Given the description of an element on the screen output the (x, y) to click on. 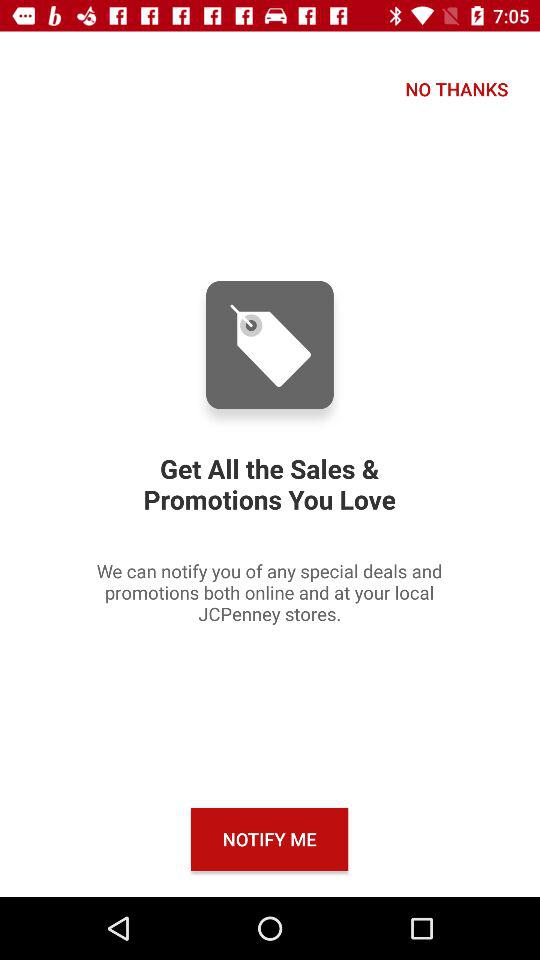
scroll to notify me item (269, 838)
